Given the description of an element on the screen output the (x, y) to click on. 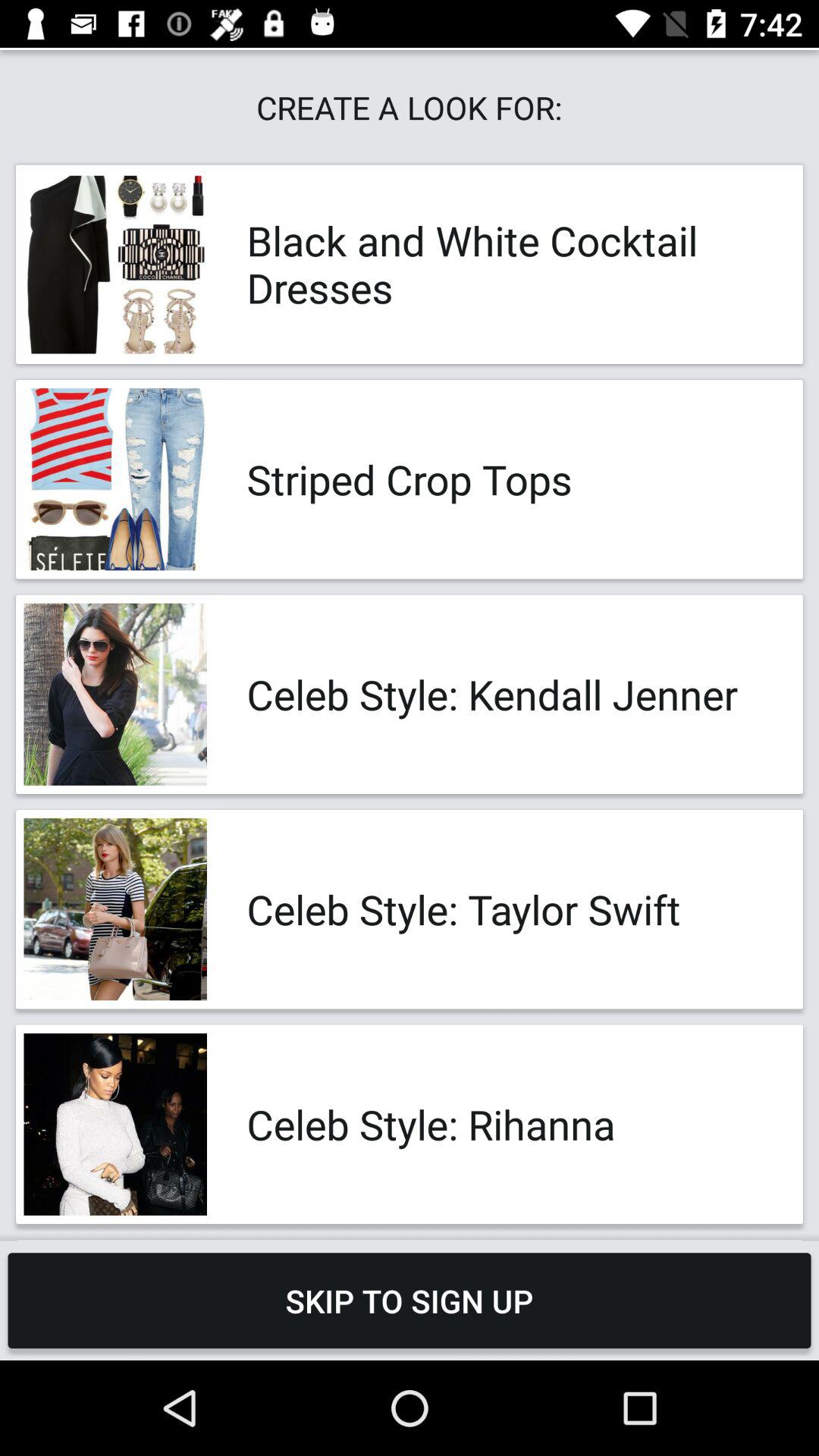
open create a look app (409, 107)
